Given the description of an element on the screen output the (x, y) to click on. 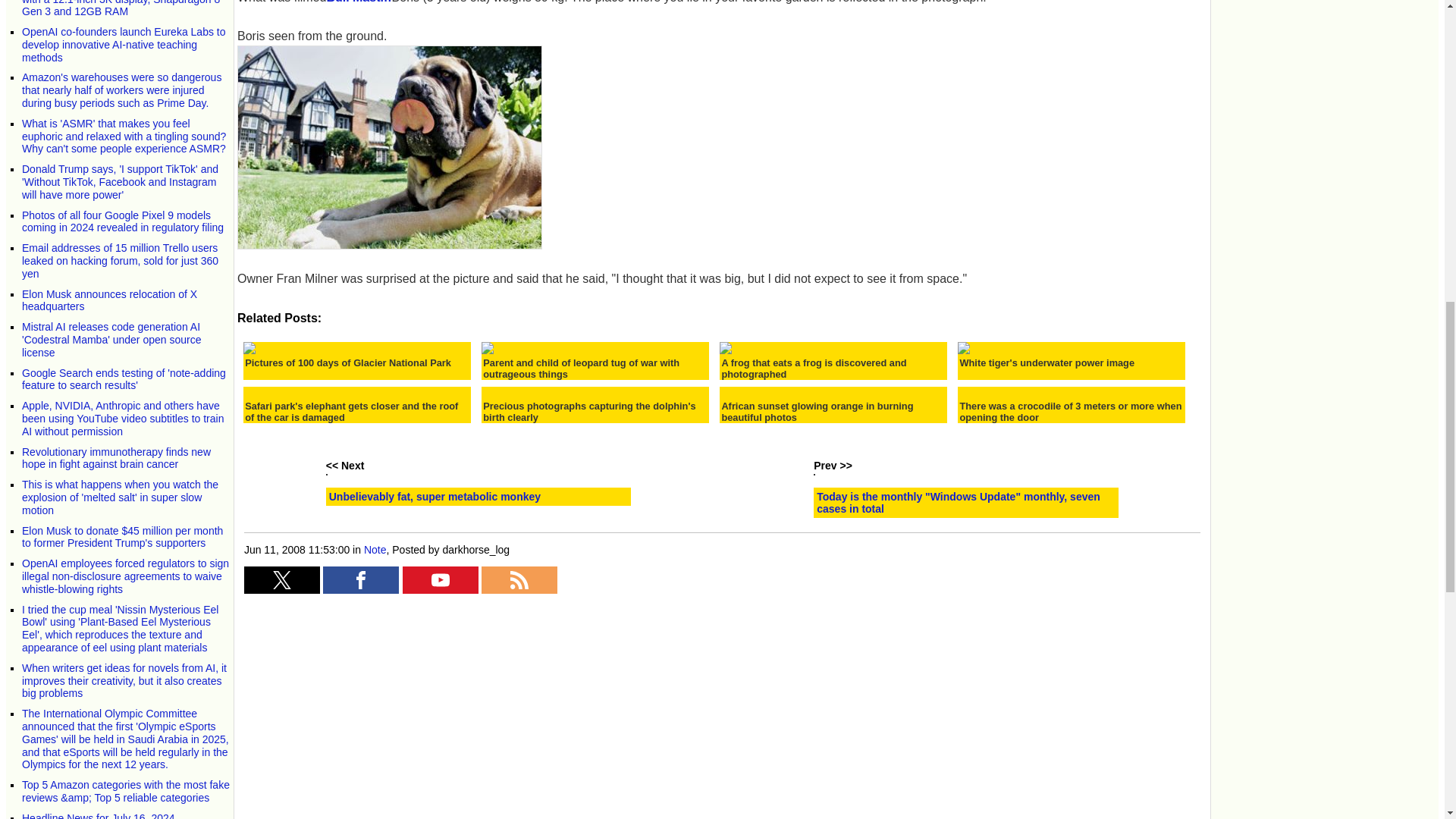
Bull Mastiff (358, 2)
African sunset glowing orange in burning beautiful photos (833, 411)
White tiger's underwater power image (1046, 362)
Note (375, 549)
Unbelievably fat, super metabolic monkey (434, 496)
A frog that eats a frog is discovered and photographed (833, 368)
Precious photographs capturing the dolphin's birth clearly (595, 411)
Pictures of 100 days of Glacier National Park (347, 362)
